Given the description of an element on the screen output the (x, y) to click on. 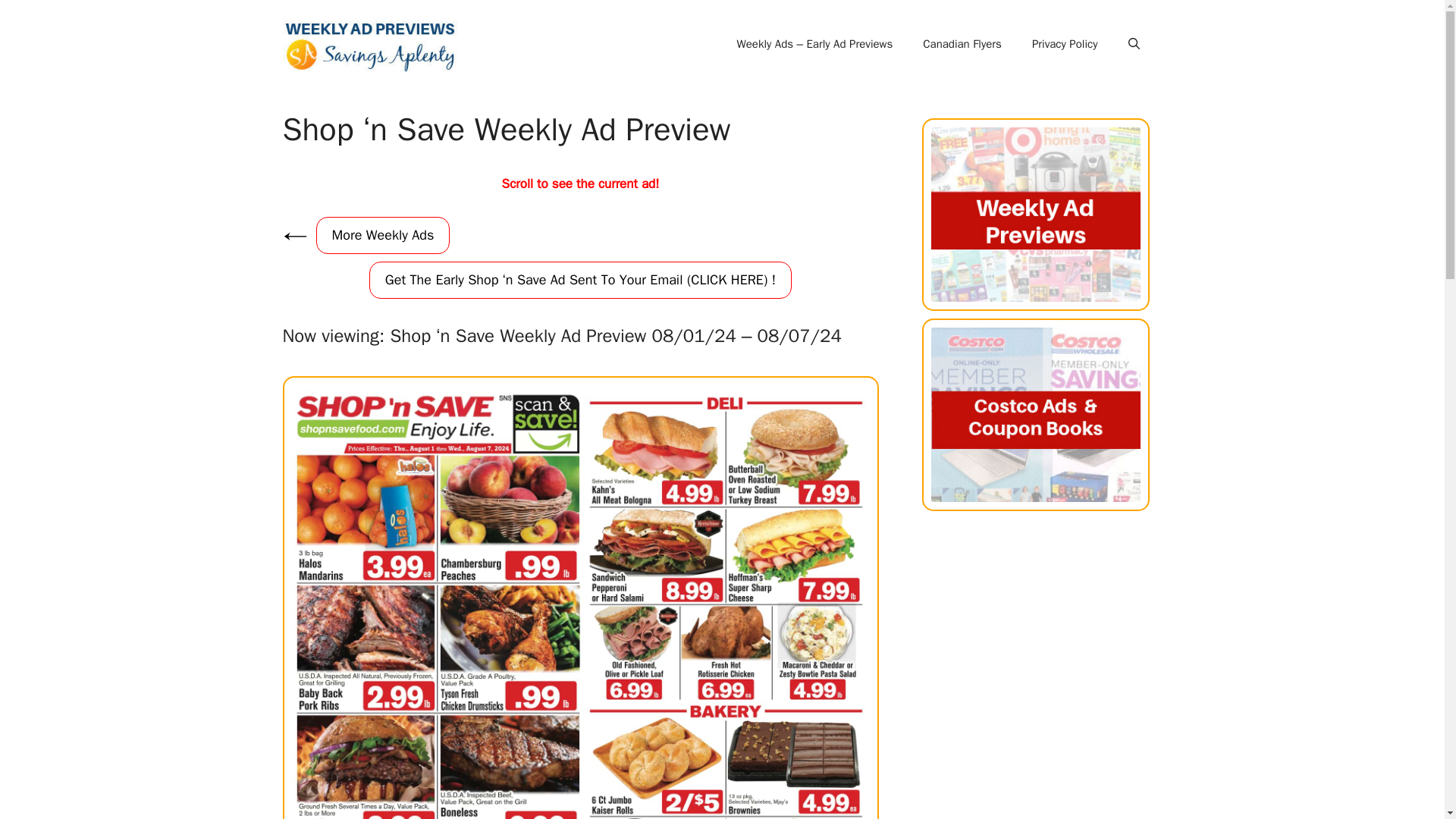
More Weekly Ads (382, 235)
More Weekly Ads (382, 235)
Privacy Policy (1064, 43)
Canadian Flyers (961, 43)
